Given the description of an element on the screen output the (x, y) to click on. 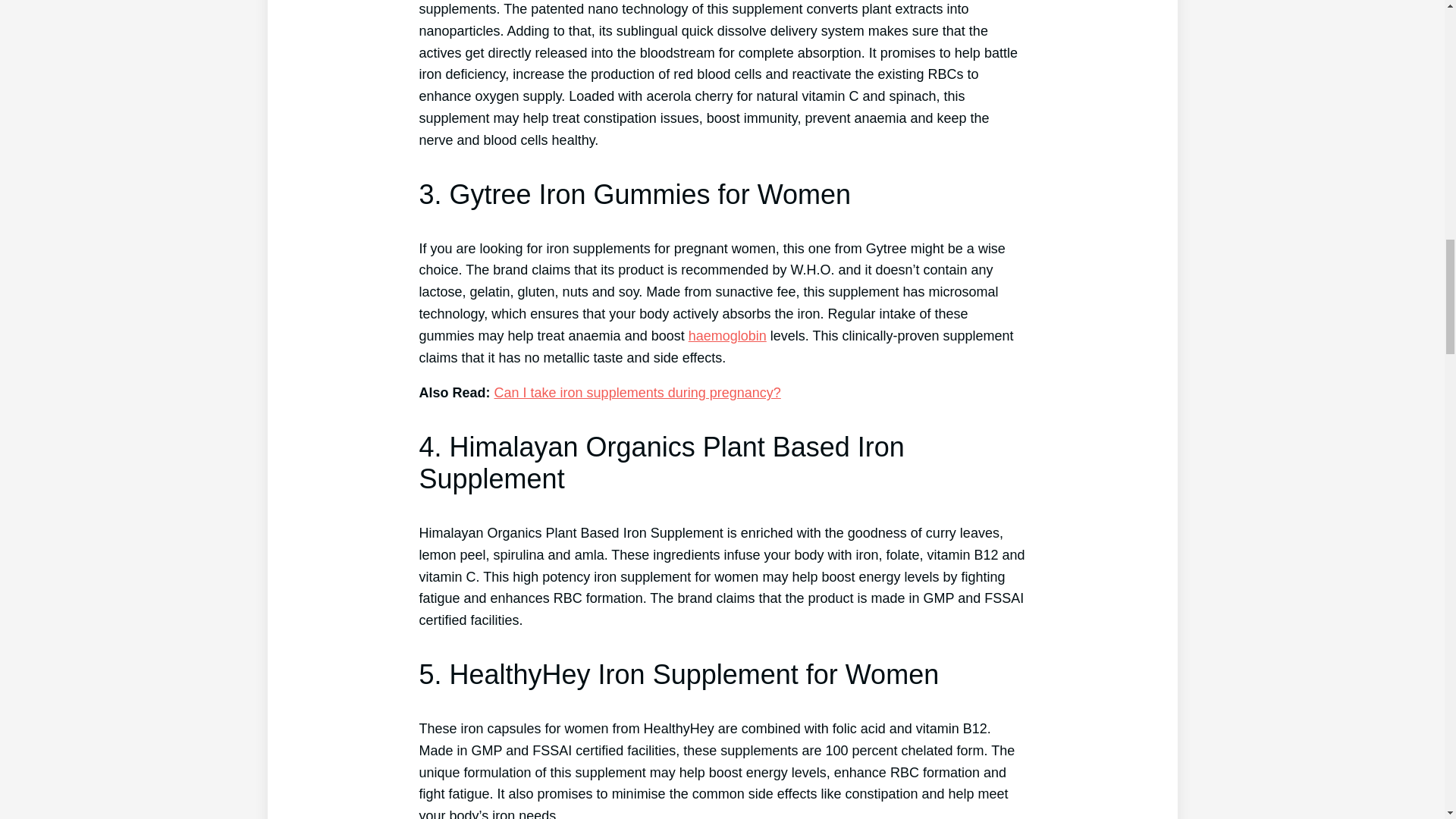
Can I take iron supplements during pregnancy? (637, 392)
haemoglobin (727, 335)
